Given the description of an element on the screen output the (x, y) to click on. 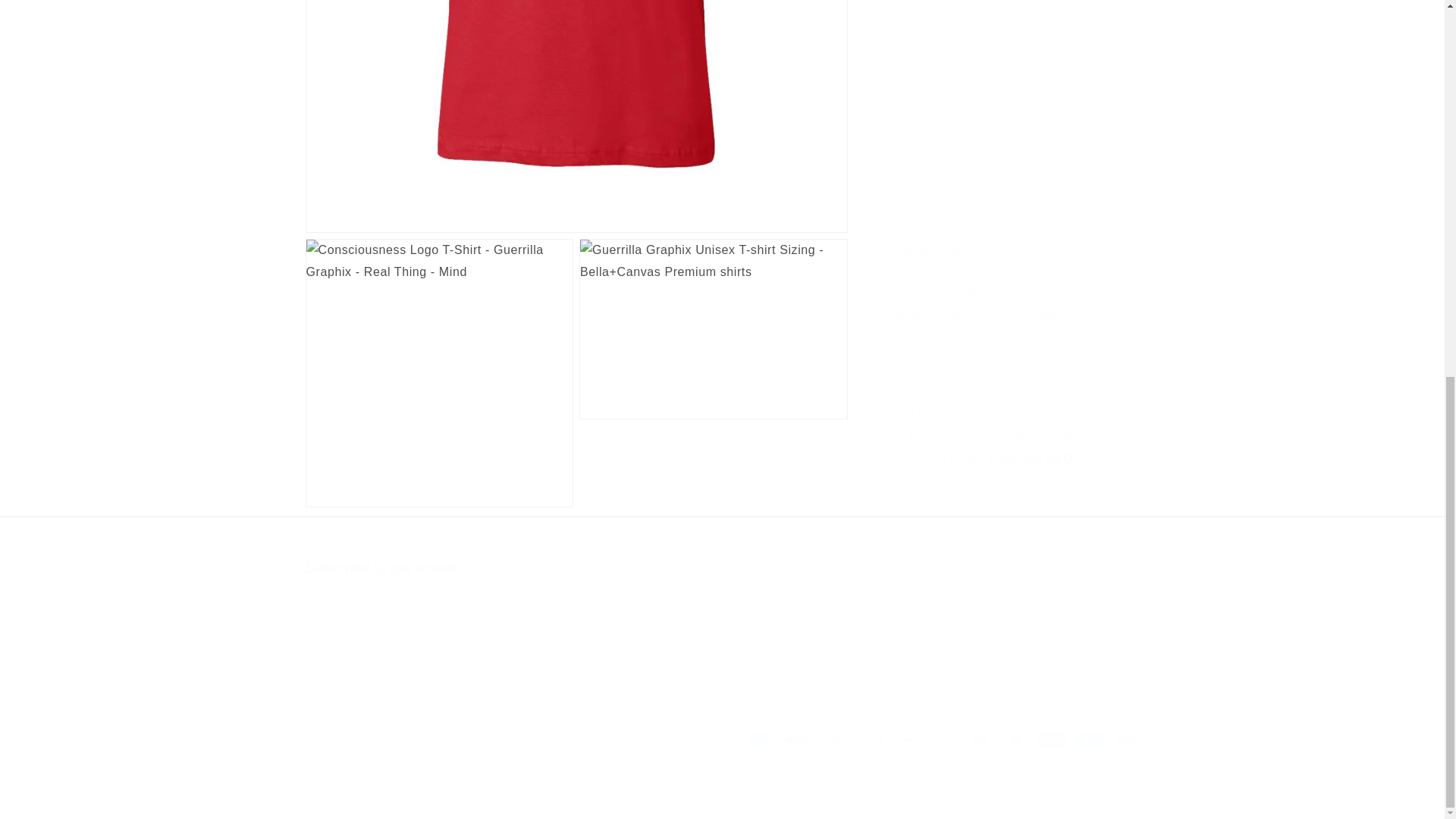
1 (931, 2)
Open media 3 in modal (713, 357)
Open media 2 in modal (438, 357)
Open media 1 in modal (575, 108)
